Given the description of an element on the screen output the (x, y) to click on. 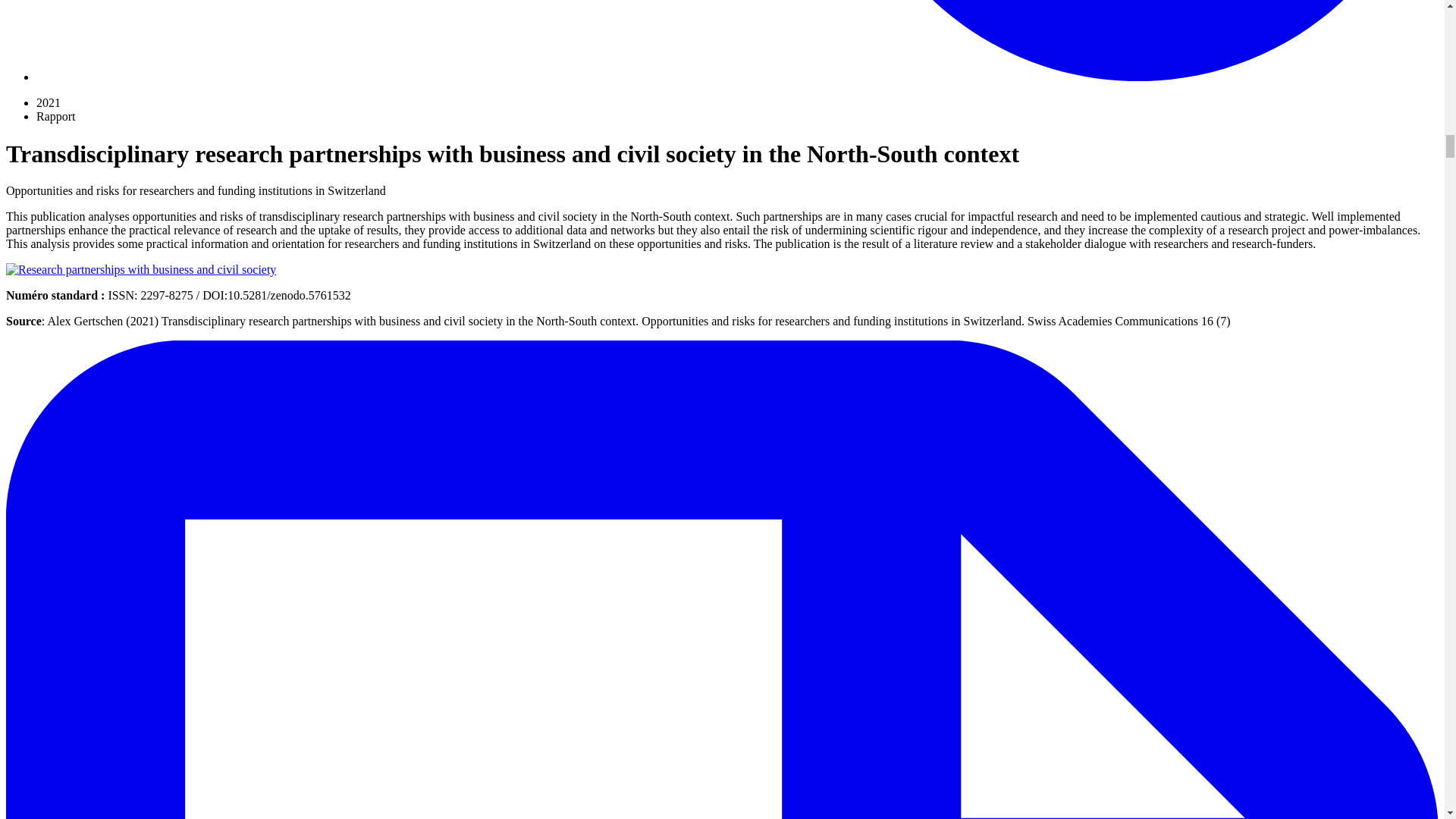
Research partnerships with business and civil society (140, 269)
